Given the description of an element on the screen output the (x, y) to click on. 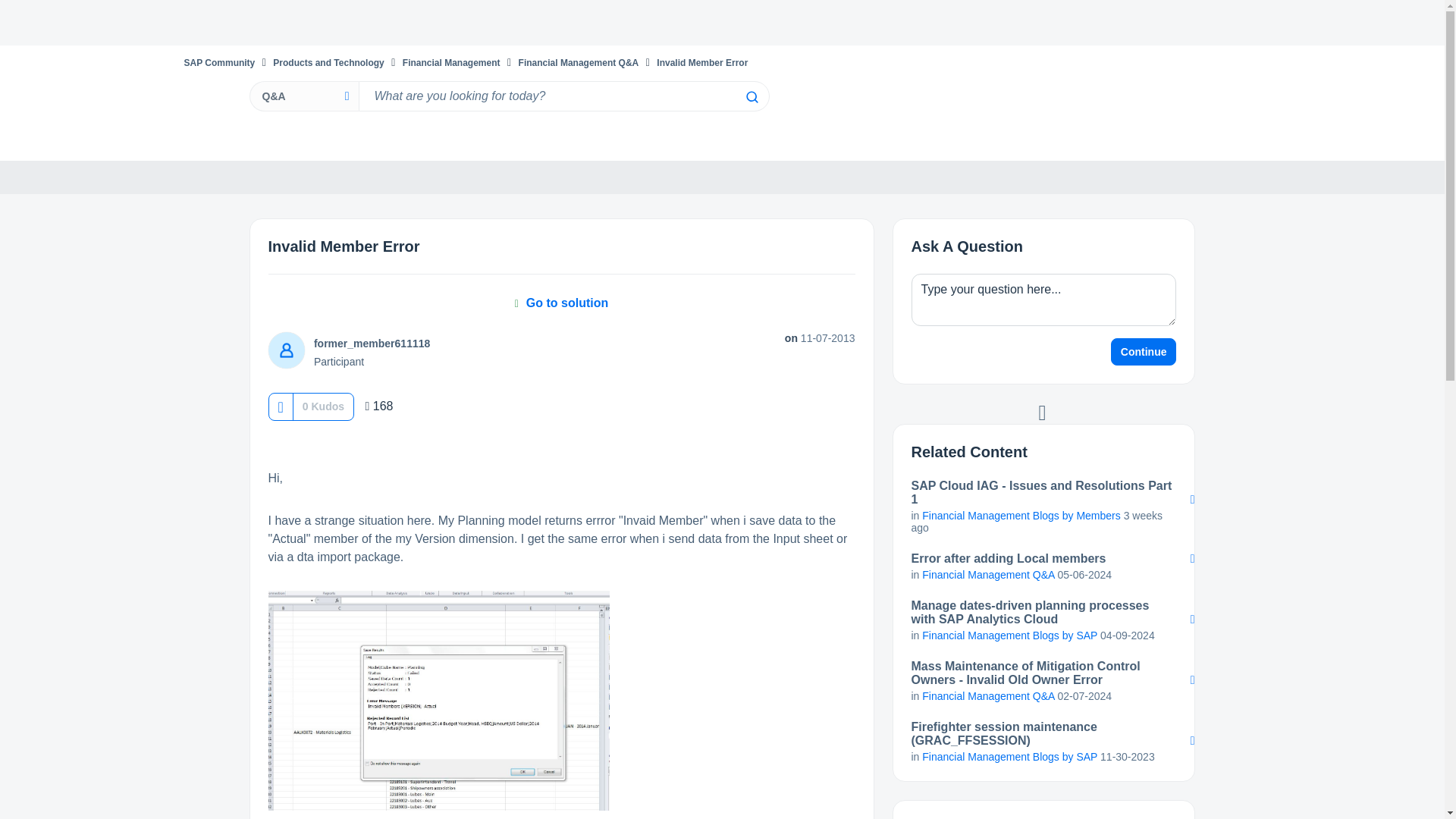
Search (750, 96)
Go to solution (561, 302)
Click here to give kudos to this post. (279, 406)
Products and Technology (328, 62)
Search Granularity (303, 96)
Search (750, 96)
Continue (1143, 351)
The total number of kudos this post has received. (323, 406)
Search (750, 96)
Search (563, 96)
SAP Community (218, 62)
Financial Management (451, 62)
